Given the description of an element on the screen output the (x, y) to click on. 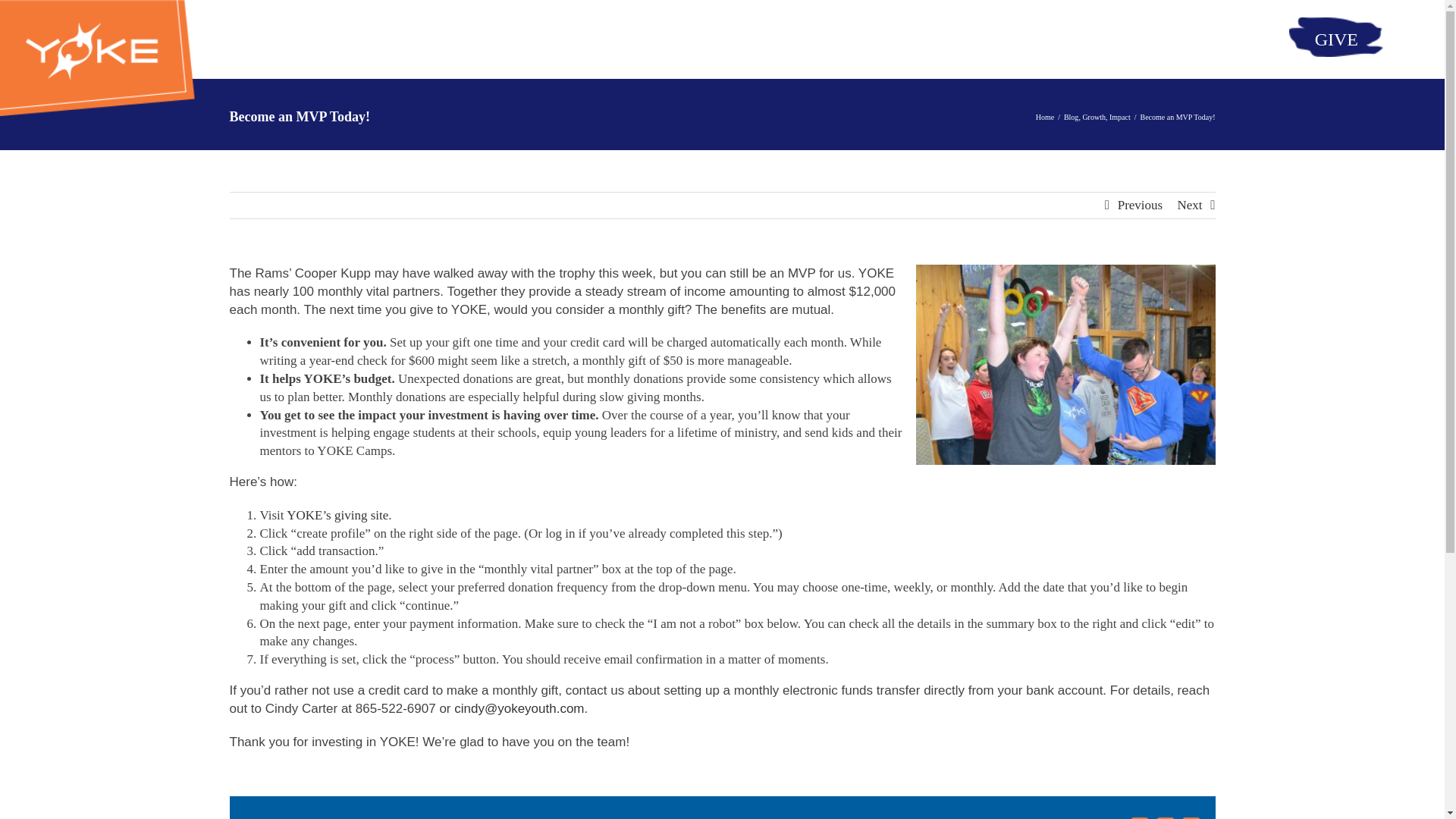
GIVE (1336, 39)
PROGRAMS (868, 39)
VOLUNTEER (759, 39)
